Given the description of an element on the screen output the (x, y) to click on. 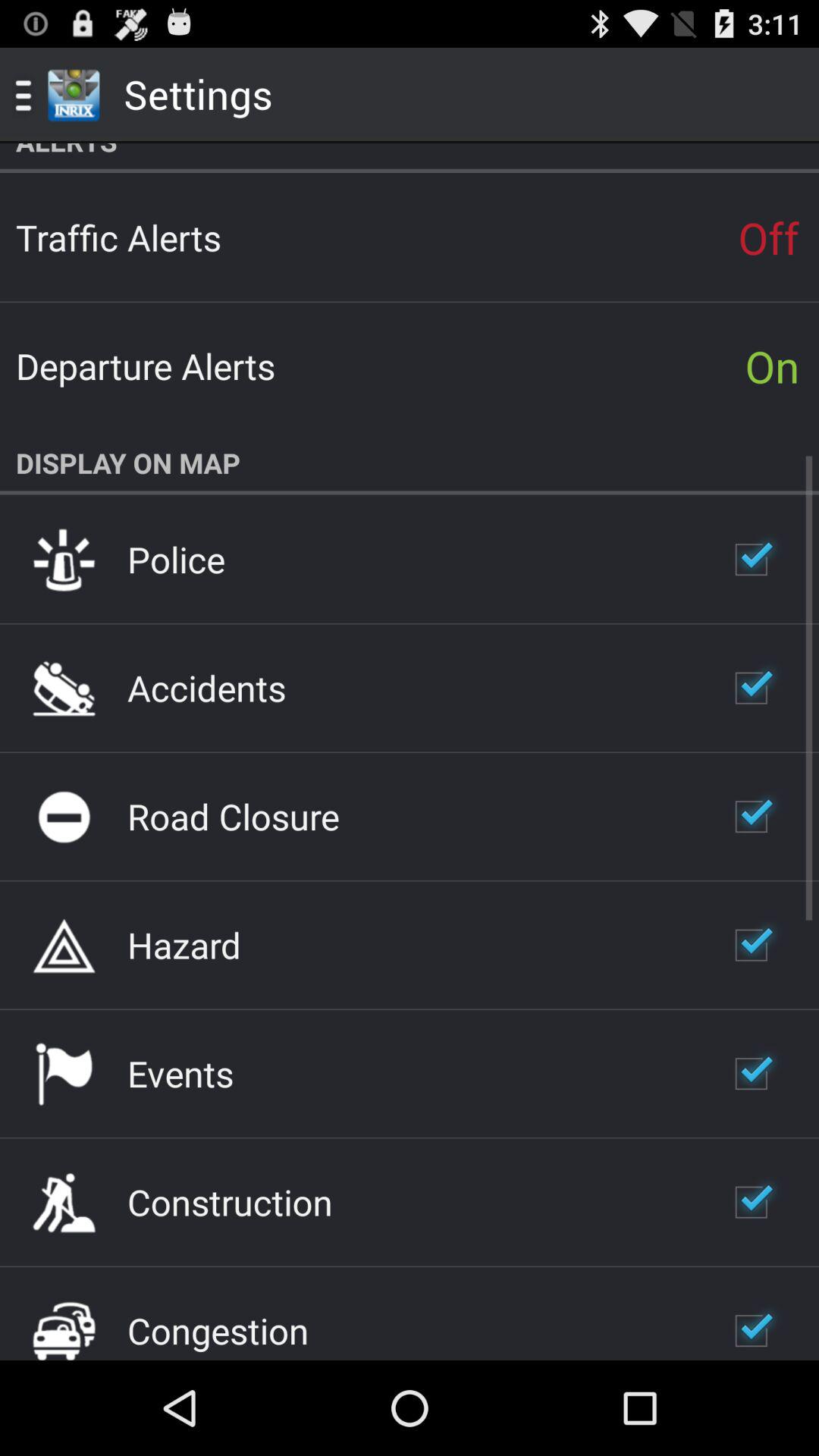
turn off congestion app (217, 1330)
